Given the description of an element on the screen output the (x, y) to click on. 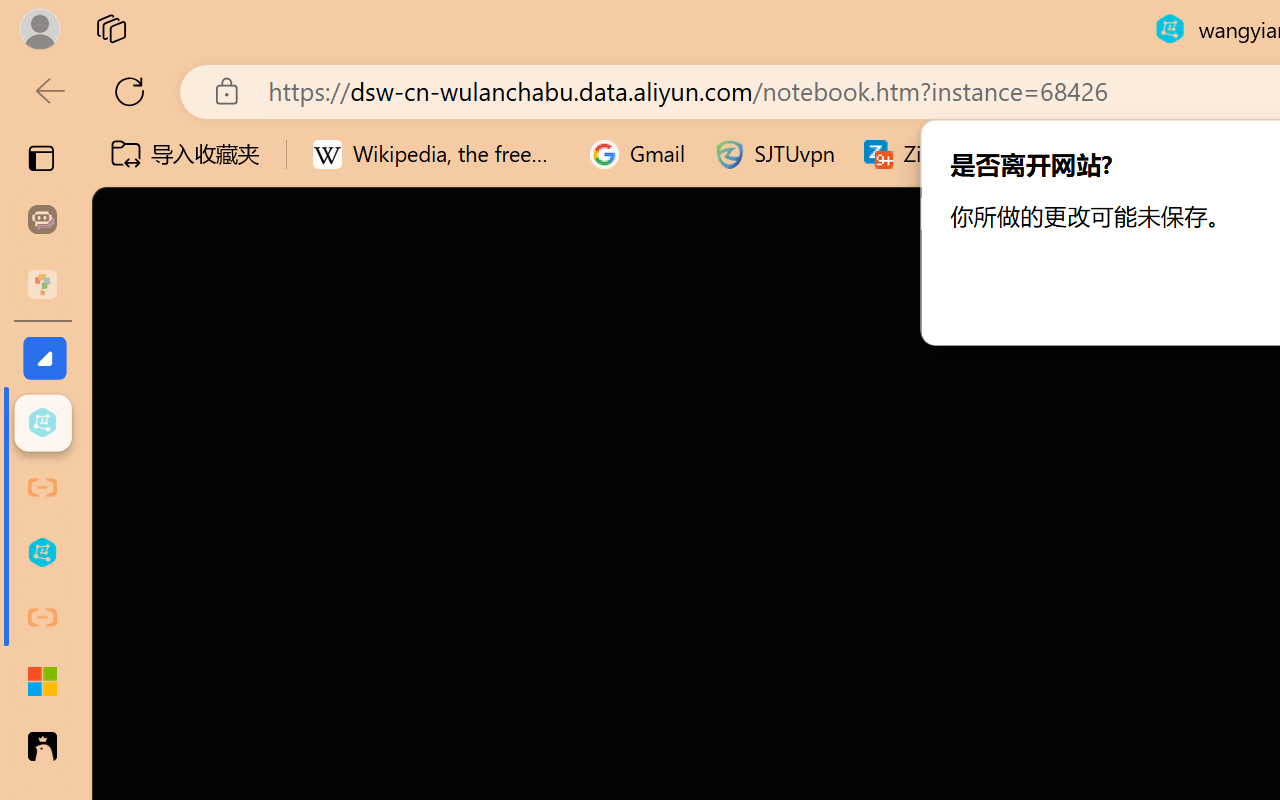
Appear (195, 111)
Float In (441, 111)
Shape (687, 111)
Swivel (1098, 111)
Random Bars (852, 111)
Wheel (770, 111)
Fade (277, 111)
Grow & Turn (934, 111)
Preview (30, 94)
None (113, 111)
Bounce (1180, 111)
